Given the description of an element on the screen output the (x, y) to click on. 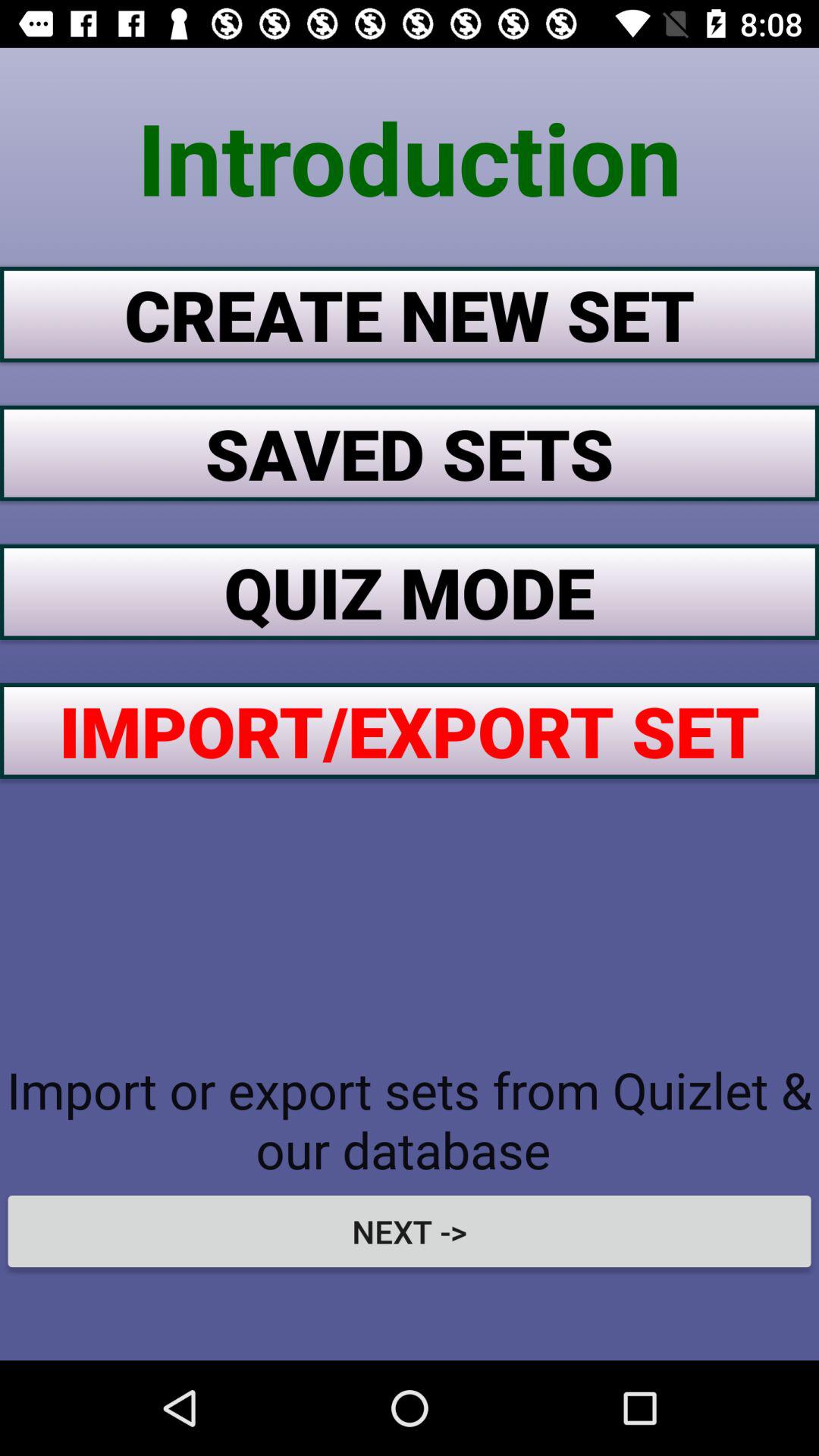
swipe until the quiz mode (409, 591)
